Given the description of an element on the screen output the (x, y) to click on. 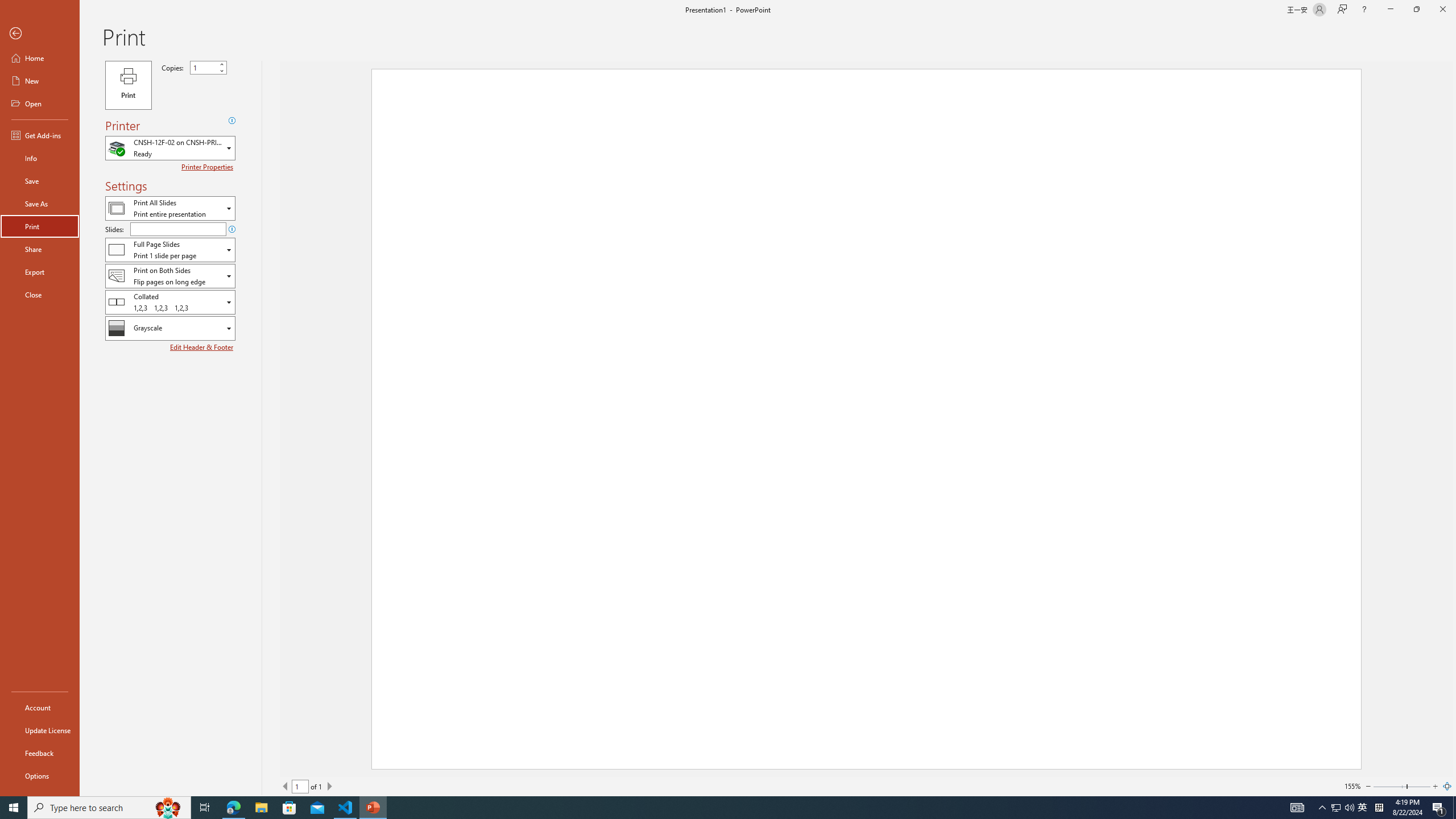
Color/Grayscale (169, 328)
Back (40, 33)
155% (1352, 785)
Feedback (40, 753)
Collation (169, 301)
New (40, 80)
Current Page (300, 786)
Print (40, 225)
Page right (1418, 786)
